Given the description of an element on the screen output the (x, y) to click on. 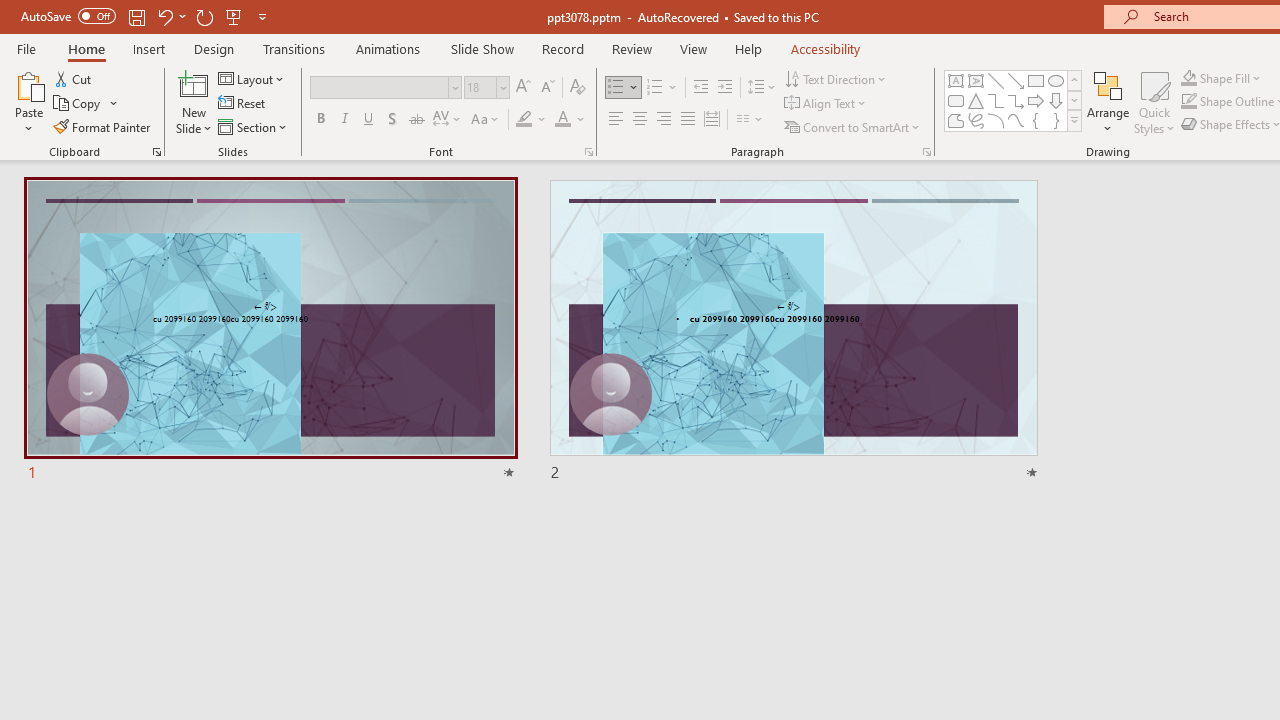
Shadow (392, 119)
Text Highlight Color Yellow (524, 119)
Clear Formatting (577, 87)
Reset (243, 103)
Font Color (569, 119)
Arc (995, 120)
Section (254, 126)
Increase Indent (725, 87)
Arrow: Right (1035, 100)
Left Brace (1035, 120)
Change Case (486, 119)
Freeform: Scribble (975, 120)
